Given the description of an element on the screen output the (x, y) to click on. 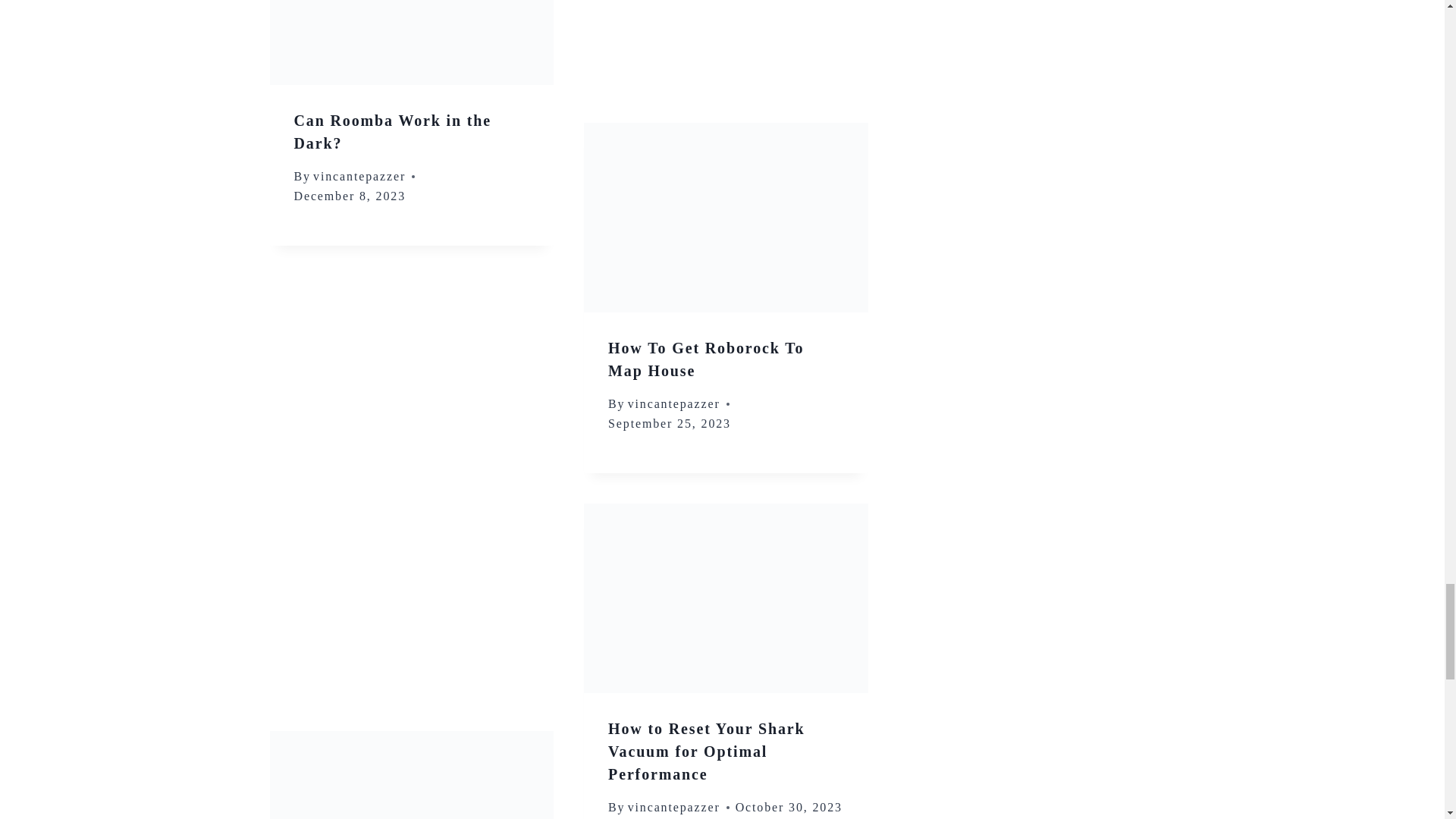
vincantepazzer (359, 175)
Can Roomba Work in the Dark? (393, 131)
How To Get Roborock To Map House (705, 359)
vincantepazzer (673, 403)
